Given the description of an element on the screen output the (x, y) to click on. 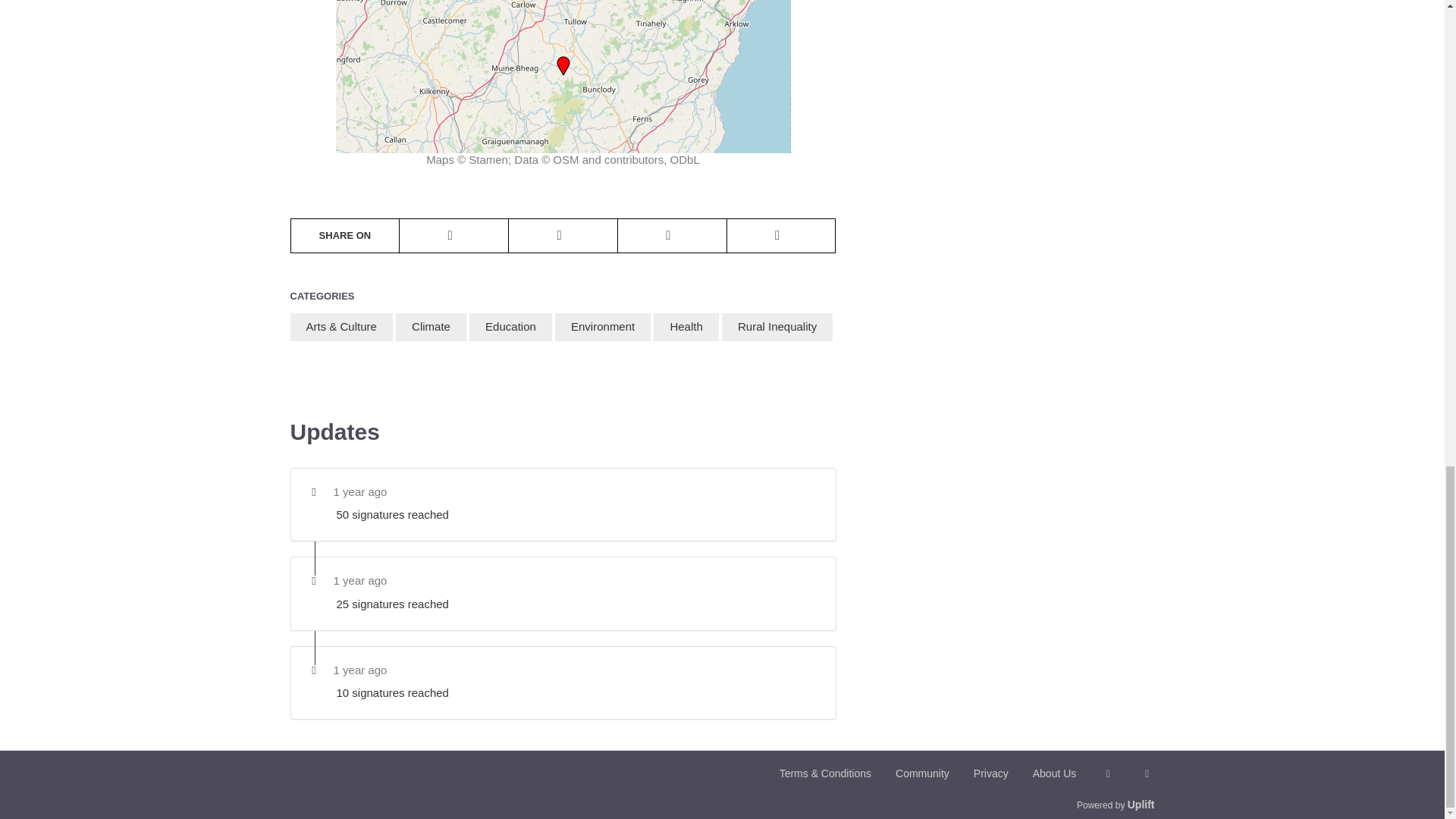
Uplift (1140, 804)
About Us (1043, 773)
Share on WhatsApp (453, 235)
Climate (430, 326)
Rural Inequality (777, 326)
Education (509, 326)
Facebook (1095, 773)
Environment (602, 326)
Twitter (1134, 773)
Share on Facebook (671, 235)
Health (685, 326)
Share on Twitter (562, 235)
Privacy (979, 773)
Share via Email (780, 235)
Community (909, 773)
